Given the description of an element on the screen output the (x, y) to click on. 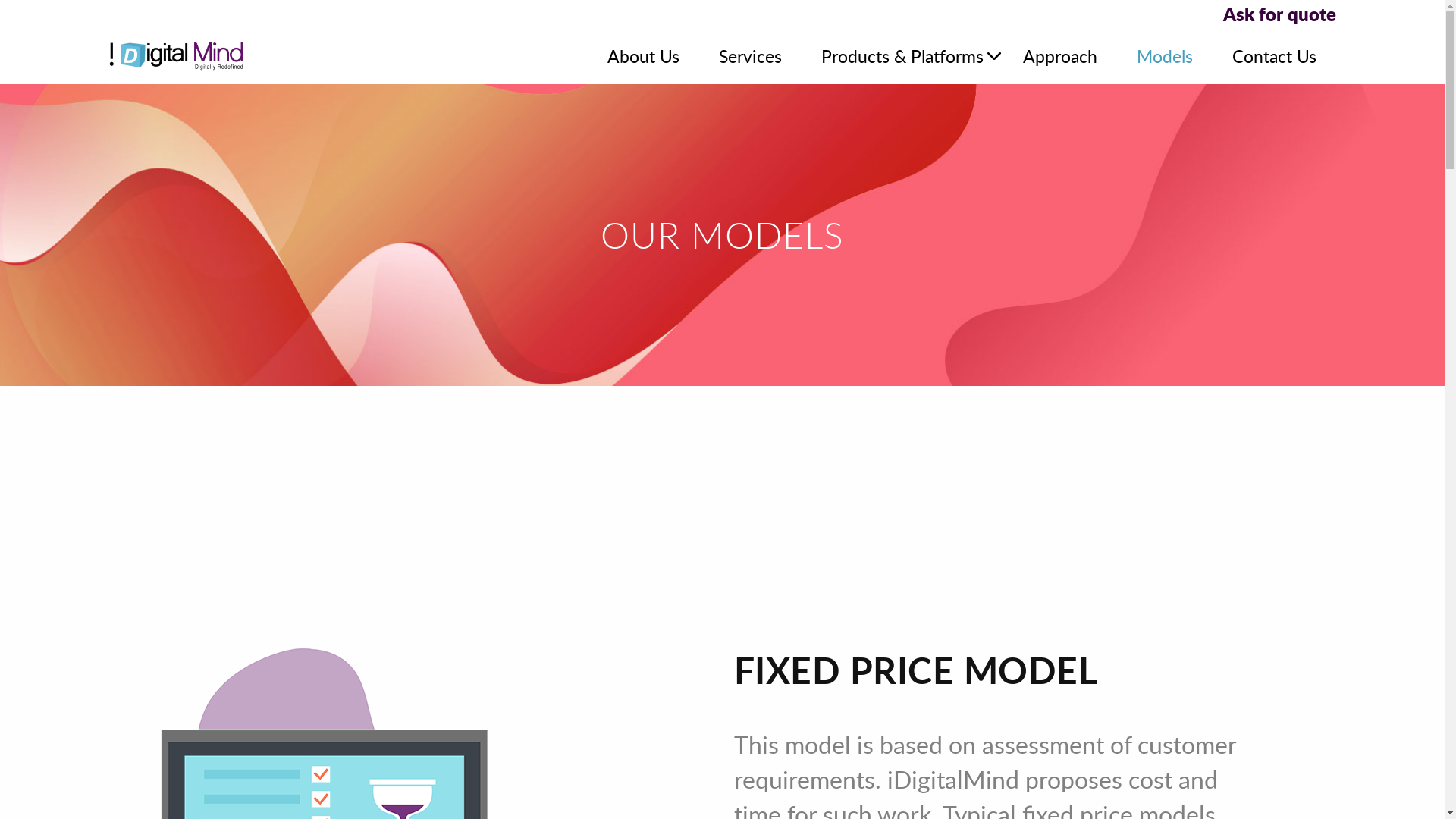
Services Element type: text (750, 55)
Approach Element type: text (1060, 55)
Ask for quote Element type: text (722, 14)
Models Element type: text (1164, 55)
Contact Us Element type: text (1274, 55)
About Us Element type: text (643, 55)
Products & Platforms Element type: text (902, 55)
